Given the description of an element on the screen output the (x, y) to click on. 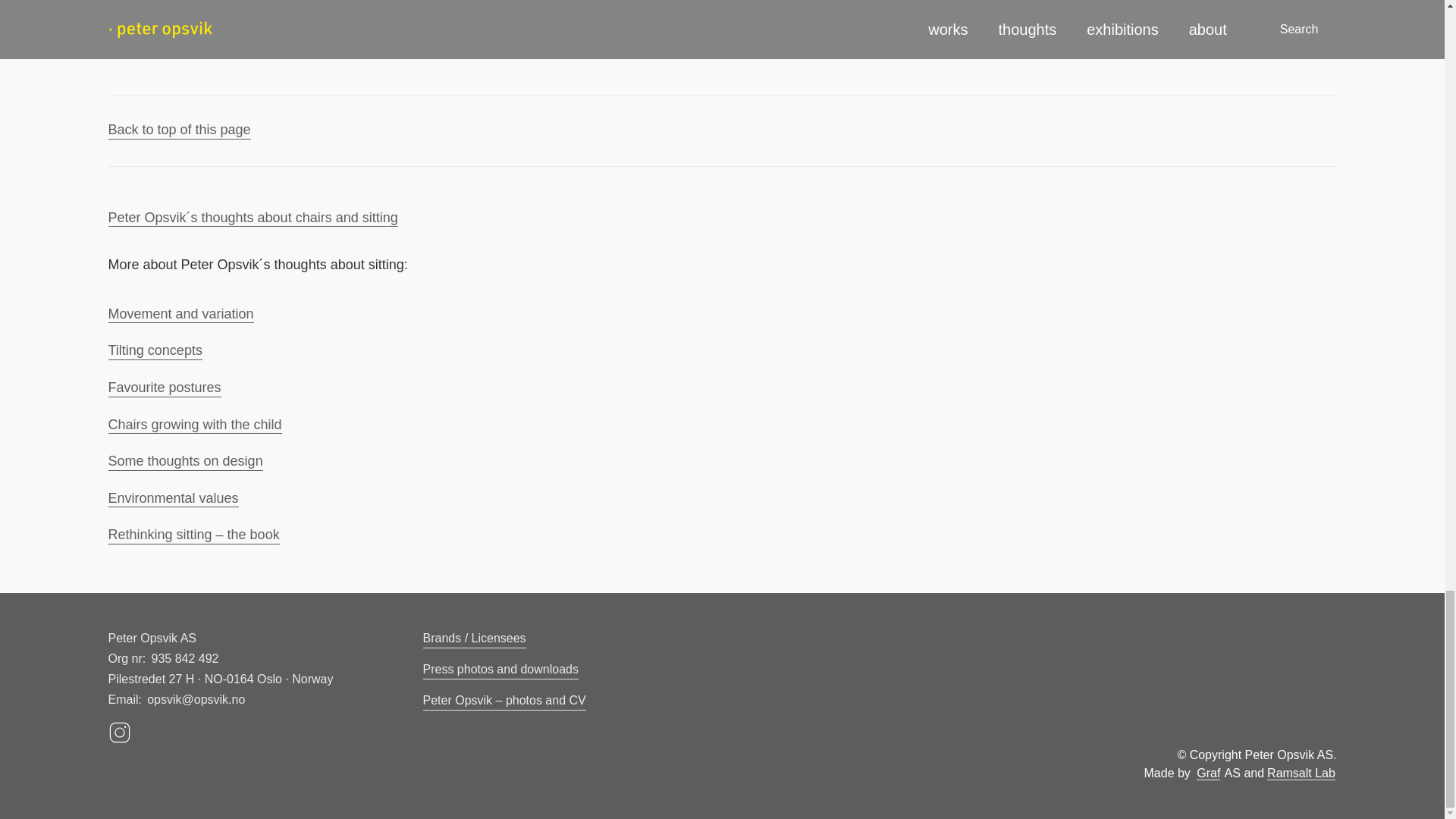
Press photos and downloads (500, 669)
Some thoughts on design (184, 461)
Tilting concepts (154, 351)
Opsvik instagram account (249, 732)
Favourite postures (164, 388)
Chairs growing with the child (194, 425)
Movement and variation (180, 314)
Graf (1208, 773)
Ramsalt Lab (1300, 773)
Back to top of this page (178, 130)
Environmental values (172, 498)
